Given the description of an element on the screen output the (x, y) to click on. 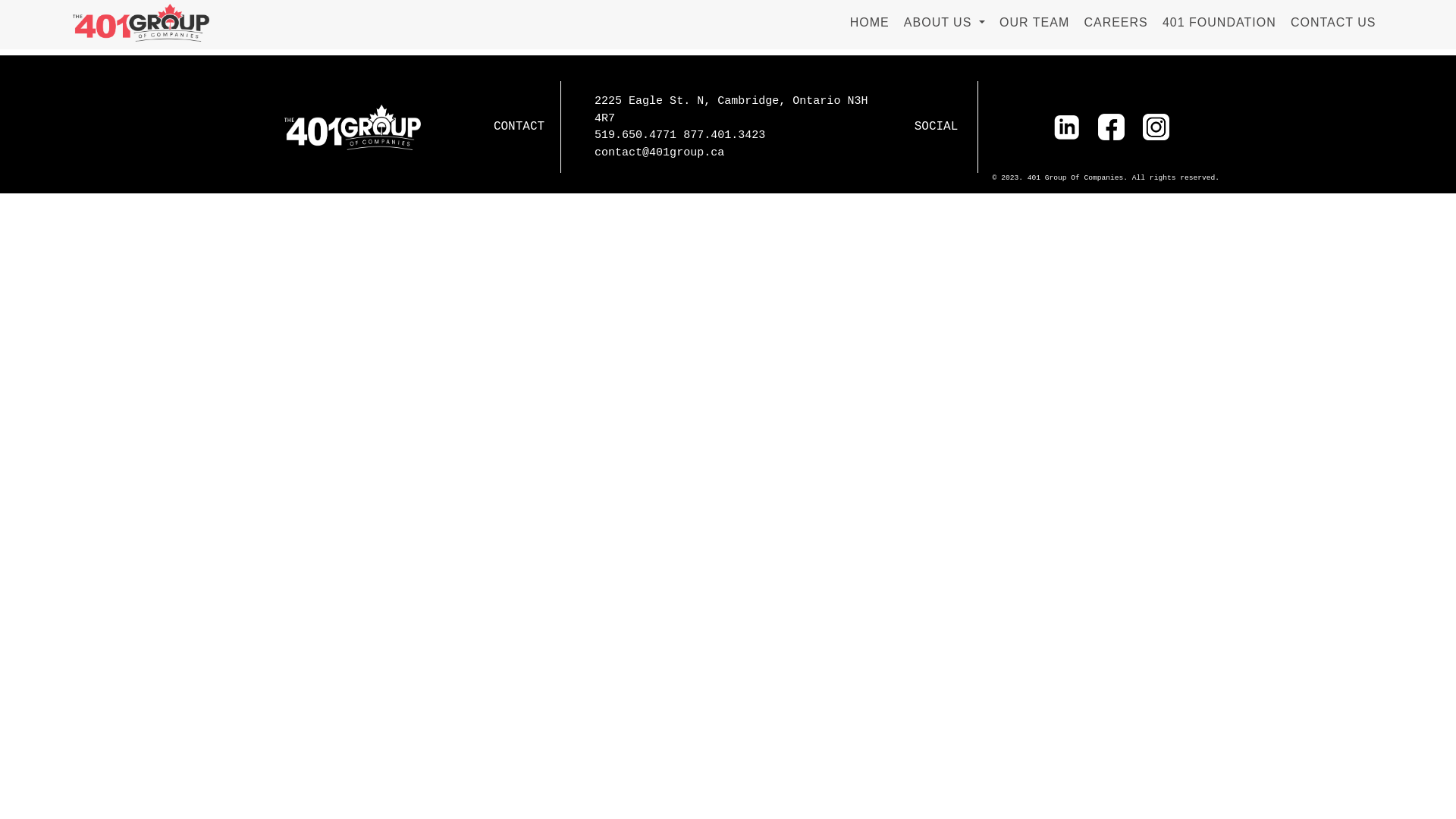
HOME Element type: text (869, 22)
CONTACT US Element type: text (1333, 22)
CAREERS Element type: text (1115, 22)
OUR TEAM Element type: text (1033, 22)
ABOUT US Element type: text (943, 22)
401 FOUNDATION Element type: text (1218, 22)
